Given the description of an element on the screen output the (x, y) to click on. 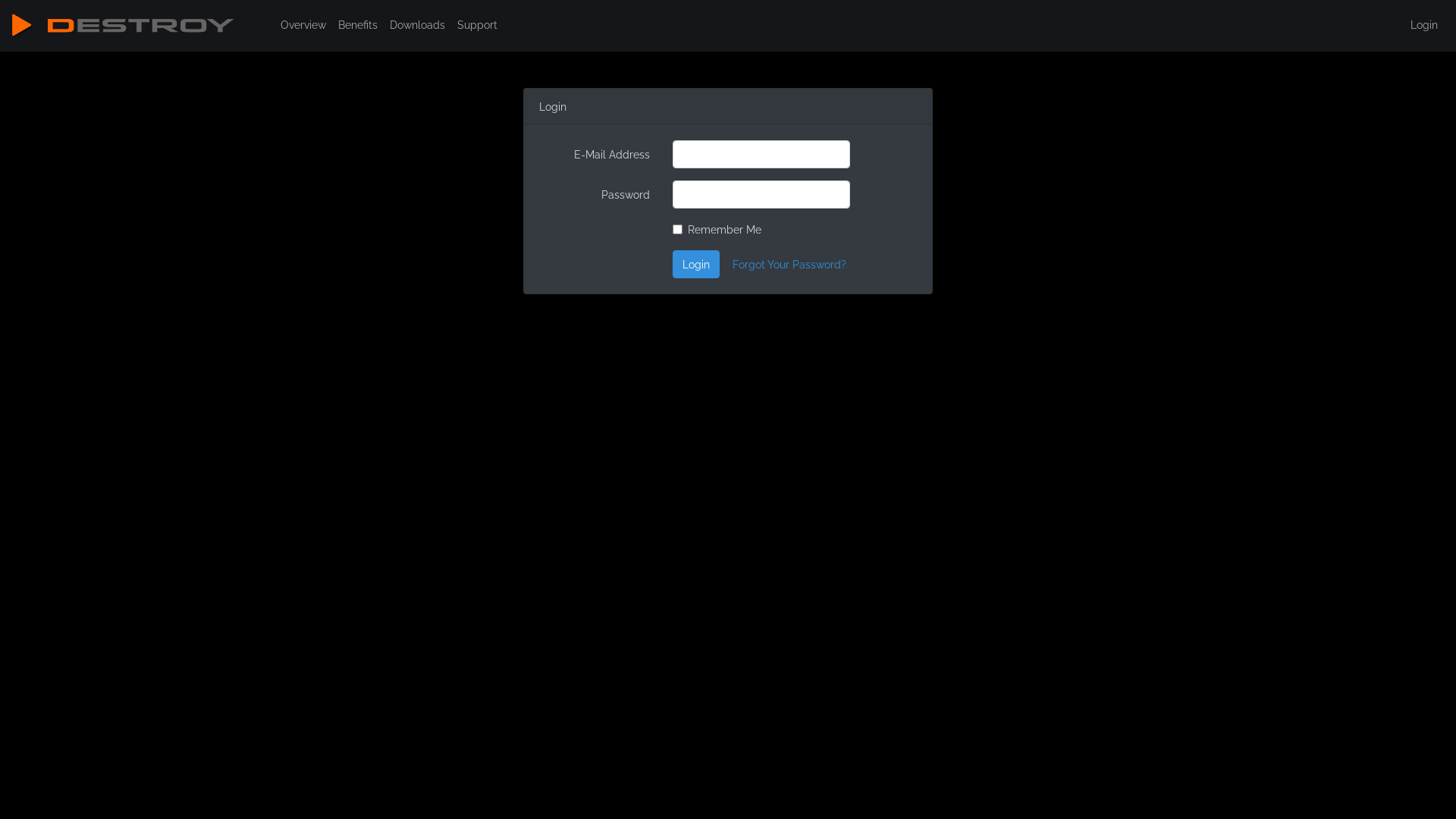
Overview Element type: text (303, 24)
Benefits Element type: text (357, 24)
Login Element type: text (1423, 24)
Support Element type: text (477, 24)
Downloads Element type: text (417, 24)
Forgot Your Password? Element type: text (789, 264)
Login Element type: text (695, 264)
